Given the description of an element on the screen output the (x, y) to click on. 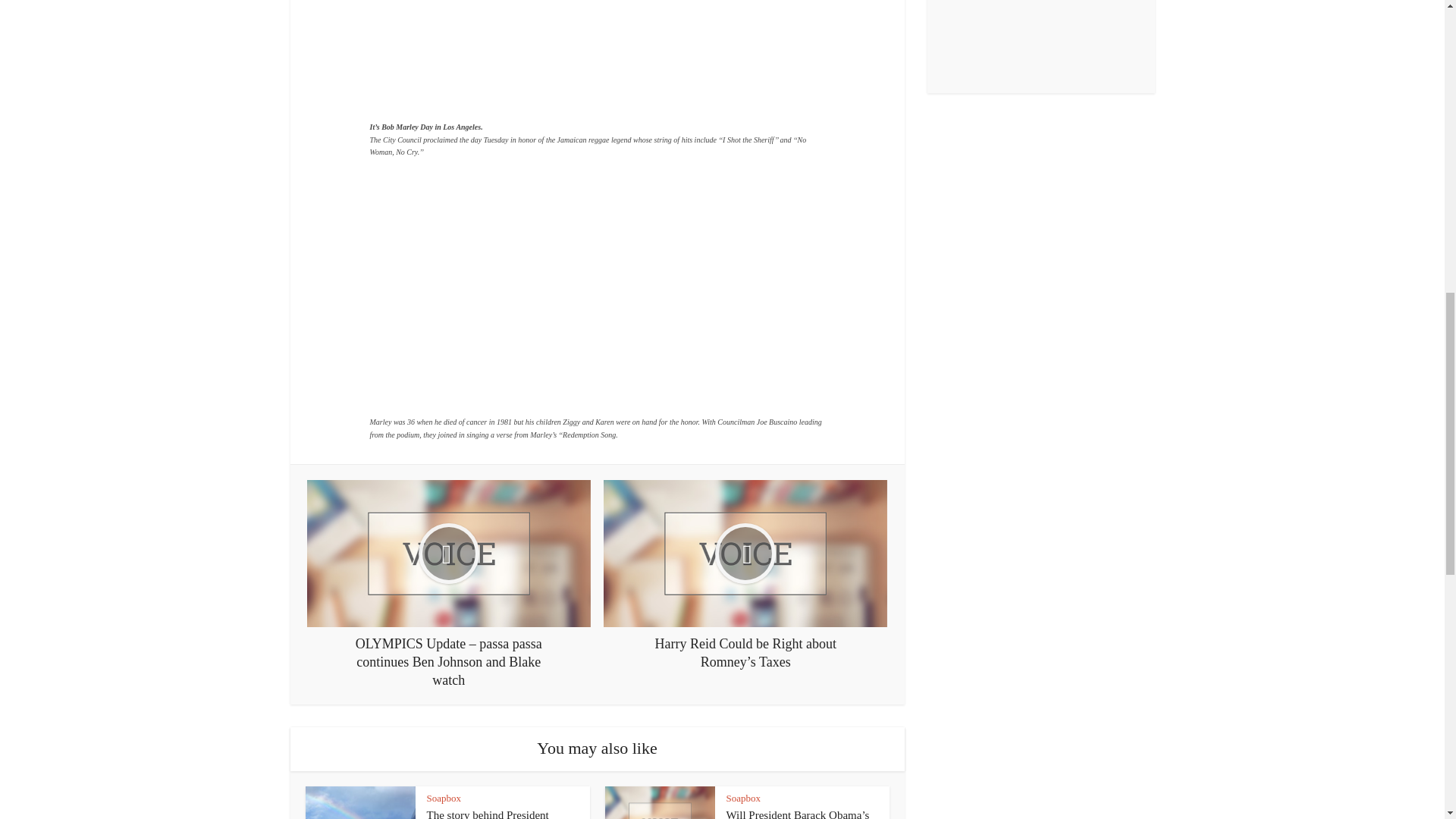
The story behind President Obama Waving A Rainbow in... (498, 814)
The story behind President Obama Waving A Rainbow in Jamaica (498, 814)
Advertisement (597, 286)
Soapbox (743, 797)
Soapbox (443, 797)
Advertisement (597, 64)
